Given the description of an element on the screen output the (x, y) to click on. 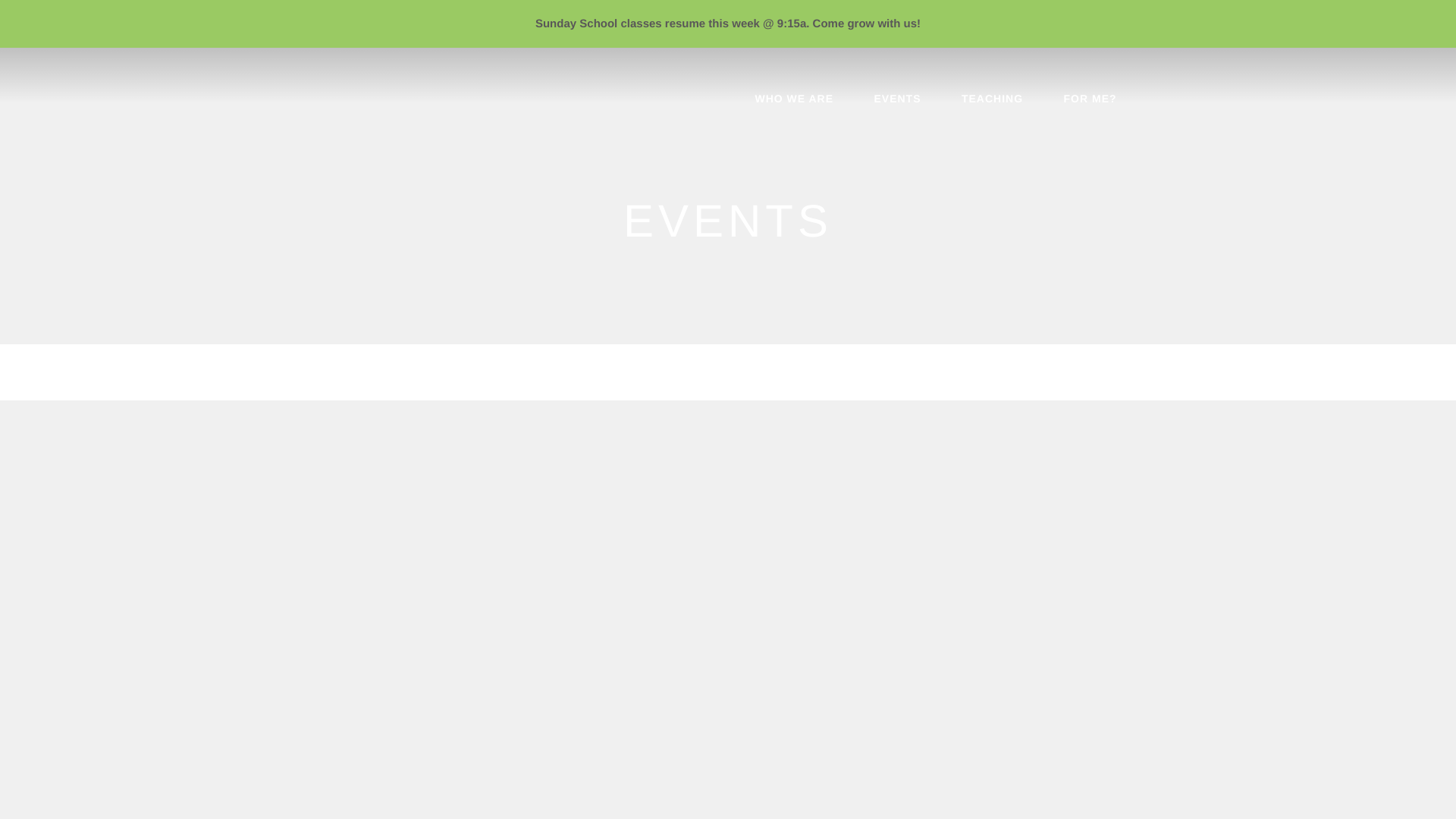
TEACHING (991, 102)
EVENTS (896, 102)
FOR ME? (1090, 102)
WHO WE ARE (793, 102)
